Given the description of an element on the screen output the (x, y) to click on. 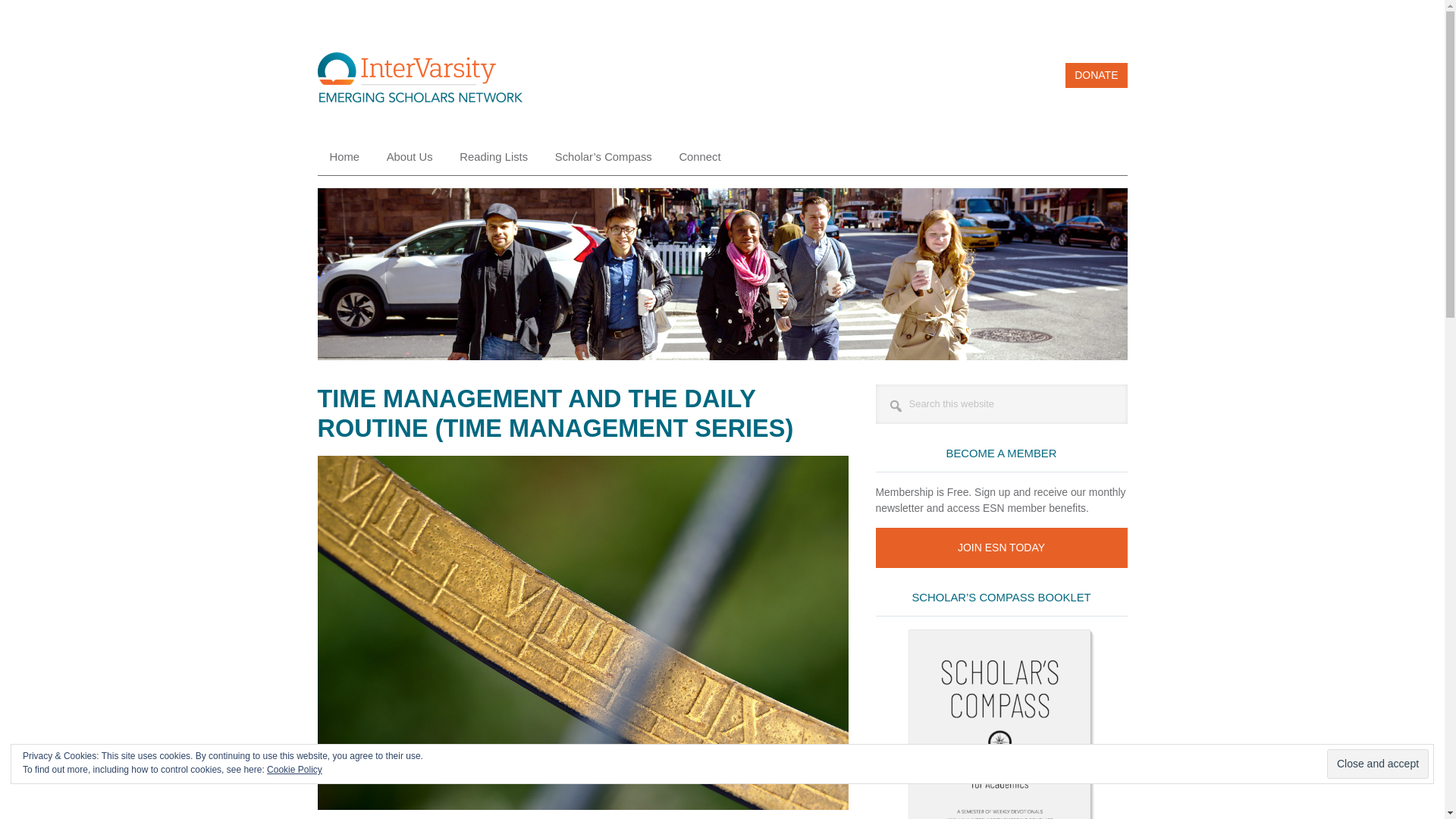
Home (344, 157)
EMERGING SCHOLARS BLOG (419, 81)
Reading Lists (493, 157)
Close and accept (1377, 763)
About Us (409, 157)
Connect (699, 157)
DONATE (1095, 75)
